Given the description of an element on the screen output the (x, y) to click on. 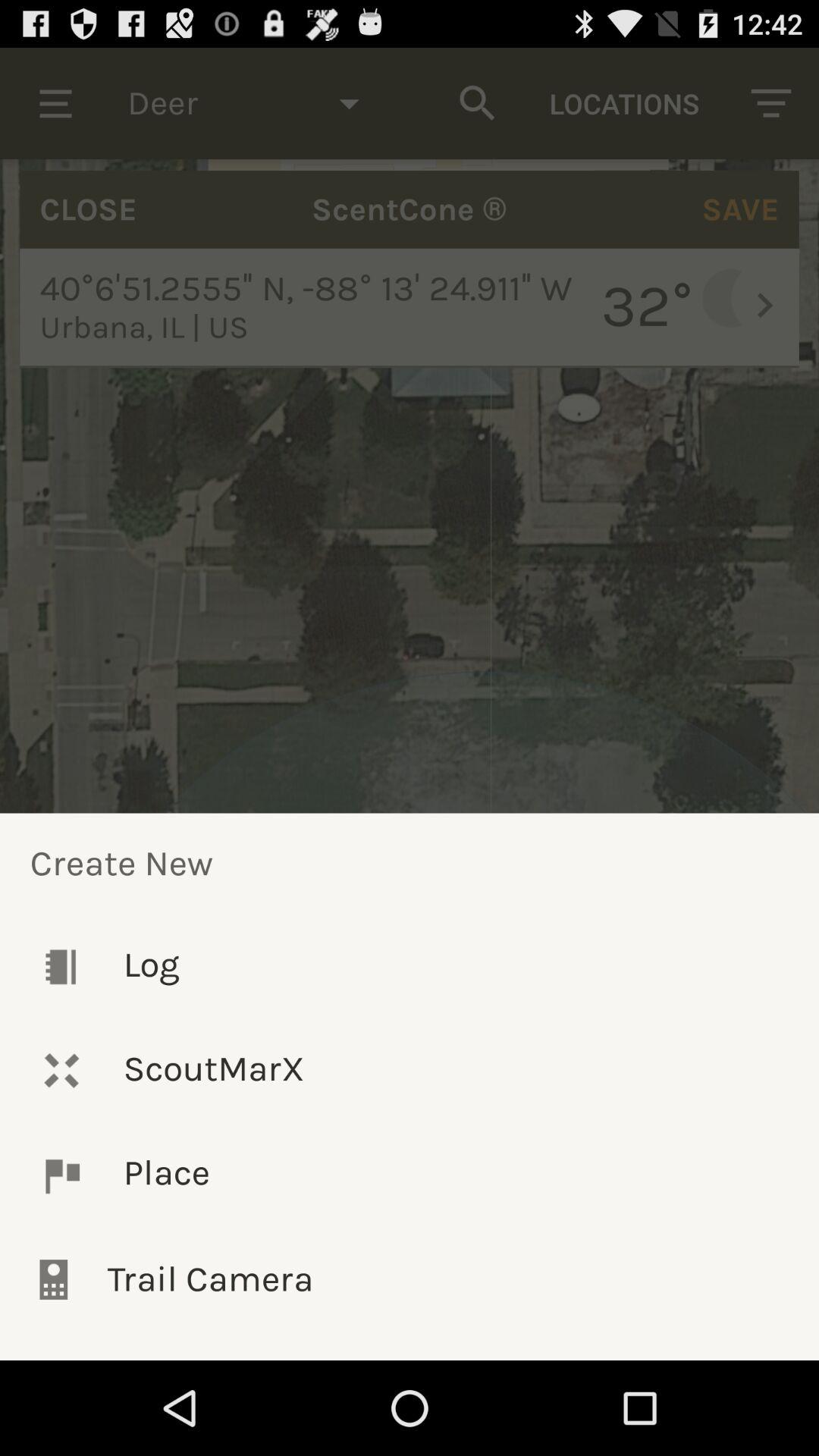
turn off the item above the place (409, 1070)
